Given the description of an element on the screen output the (x, y) to click on. 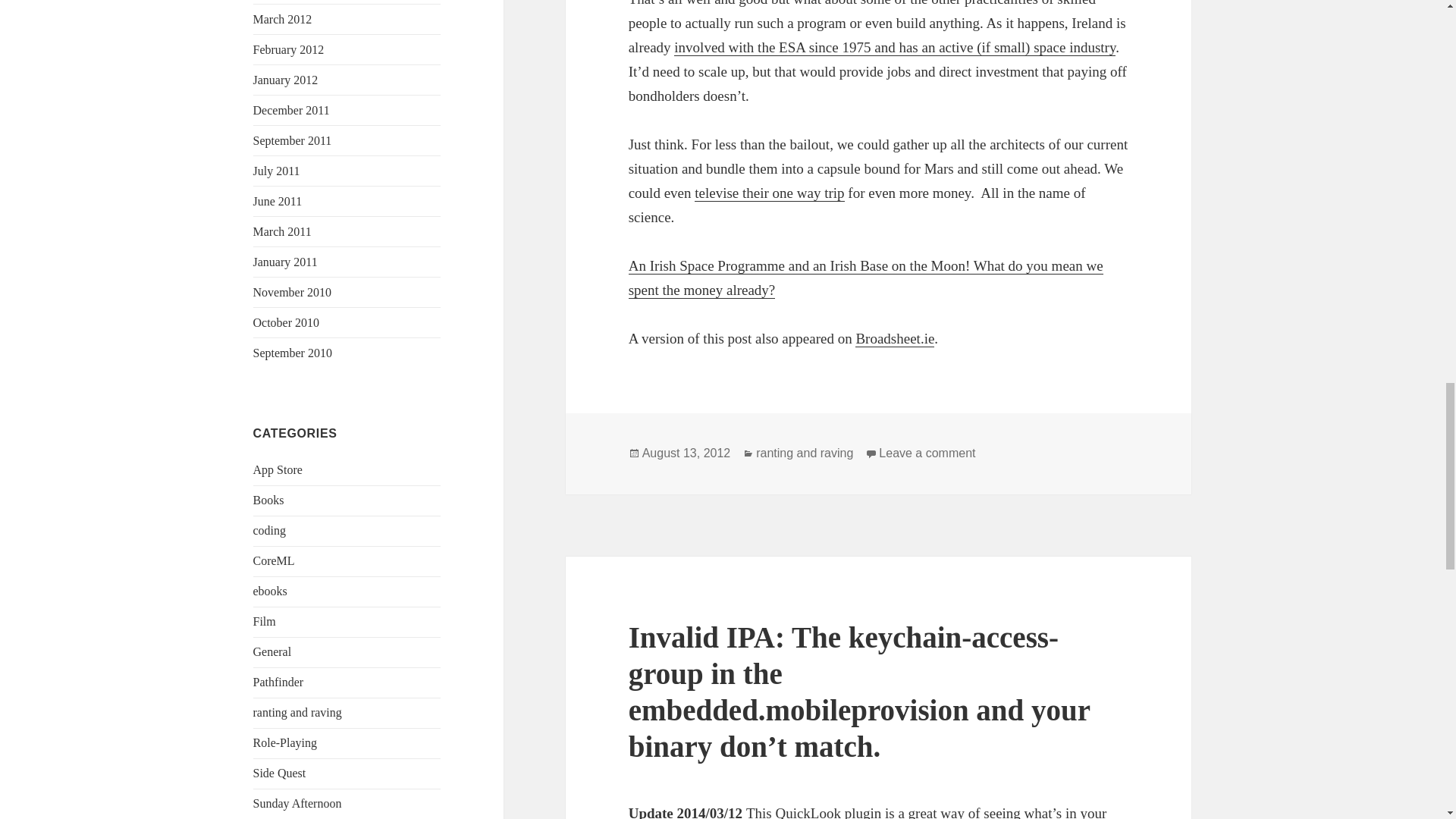
January 2012 (285, 79)
March 2012 (283, 19)
February 2012 (288, 49)
